Given the description of an element on the screen output the (x, y) to click on. 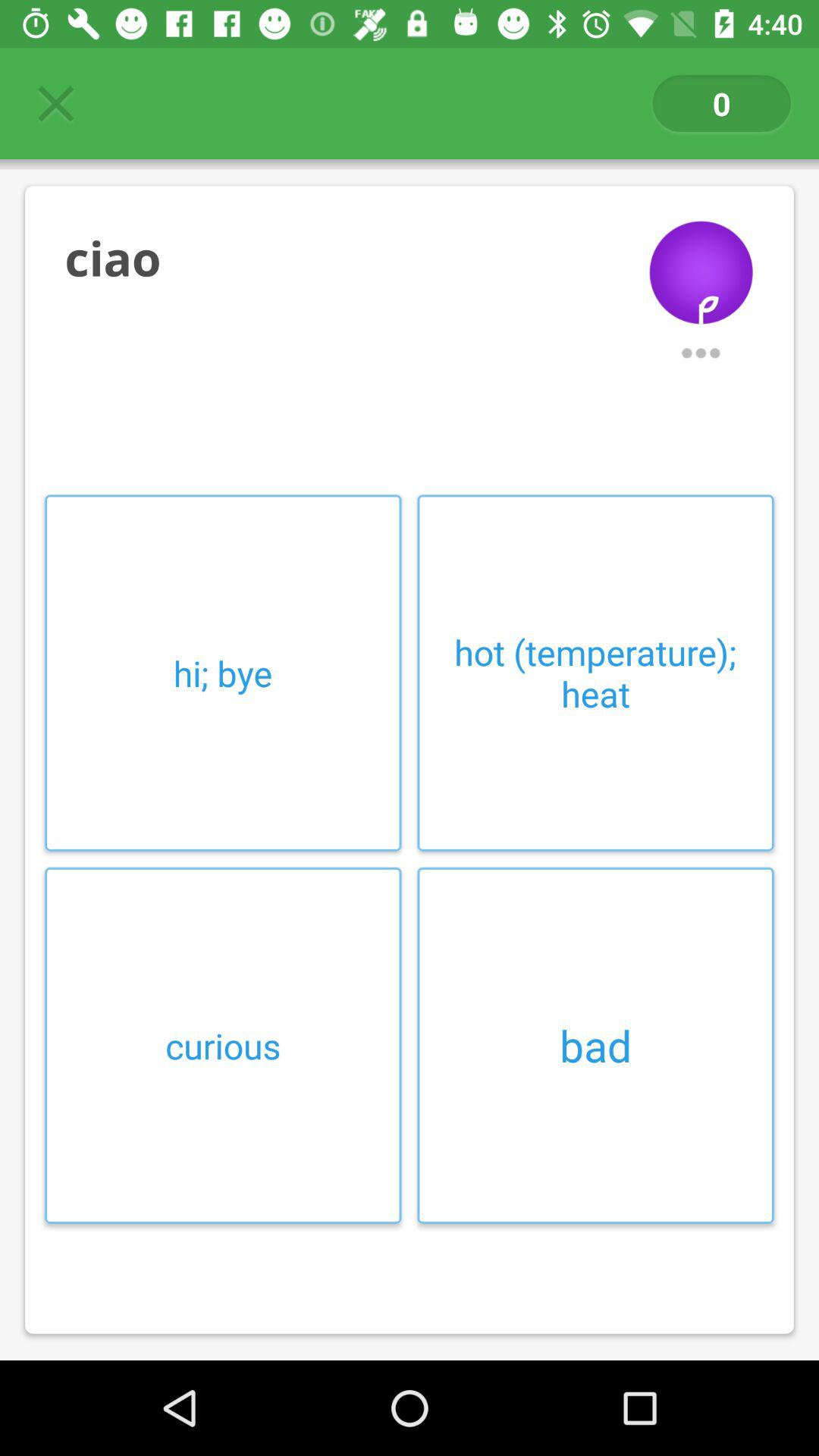
turn on ciao item (342, 257)
